Given the description of an element on the screen output the (x, y) to click on. 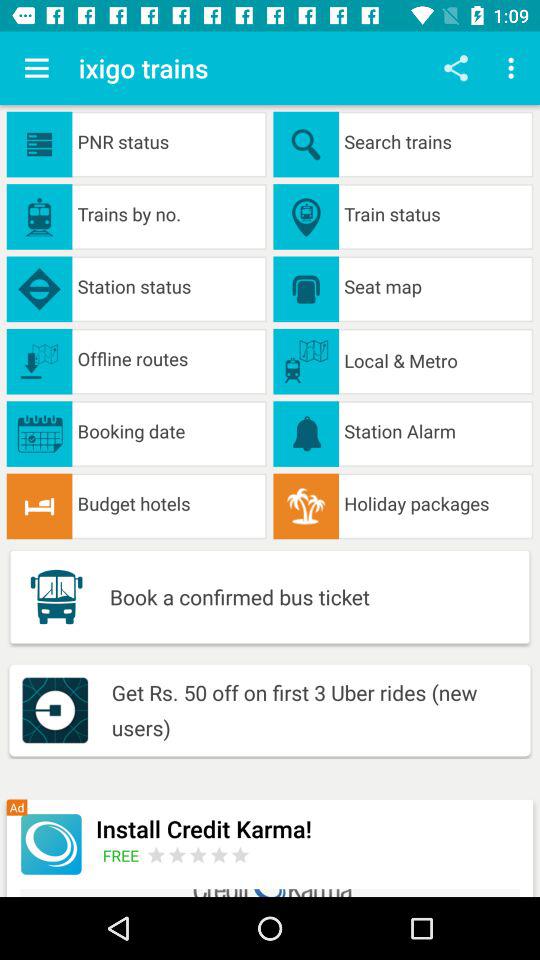
share page (455, 67)
